Given the description of an element on the screen output the (x, y) to click on. 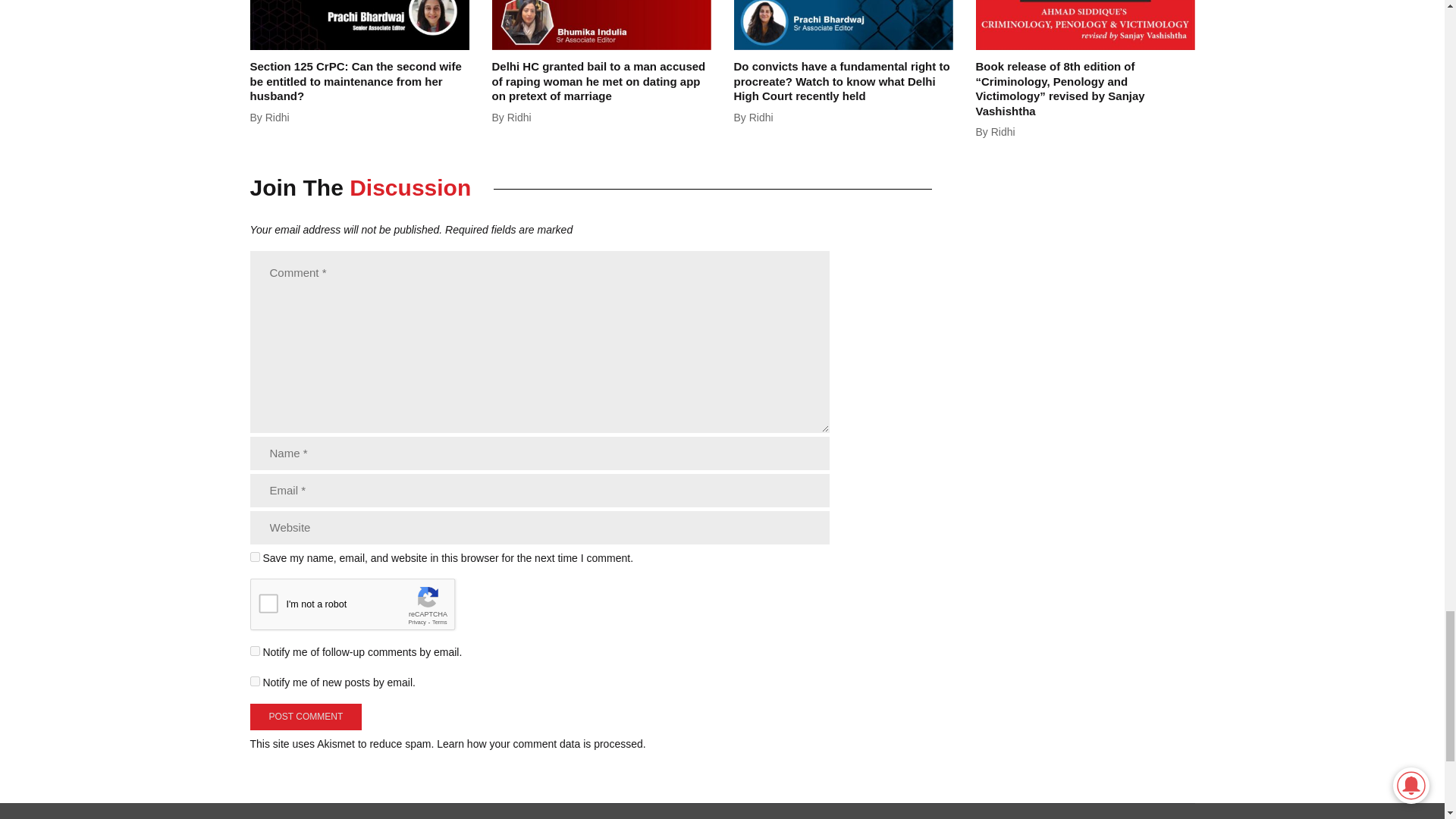
Post Comment (306, 716)
subscribe (255, 651)
subscribe (255, 681)
yes (255, 556)
